Given the description of an element on the screen output the (x, y) to click on. 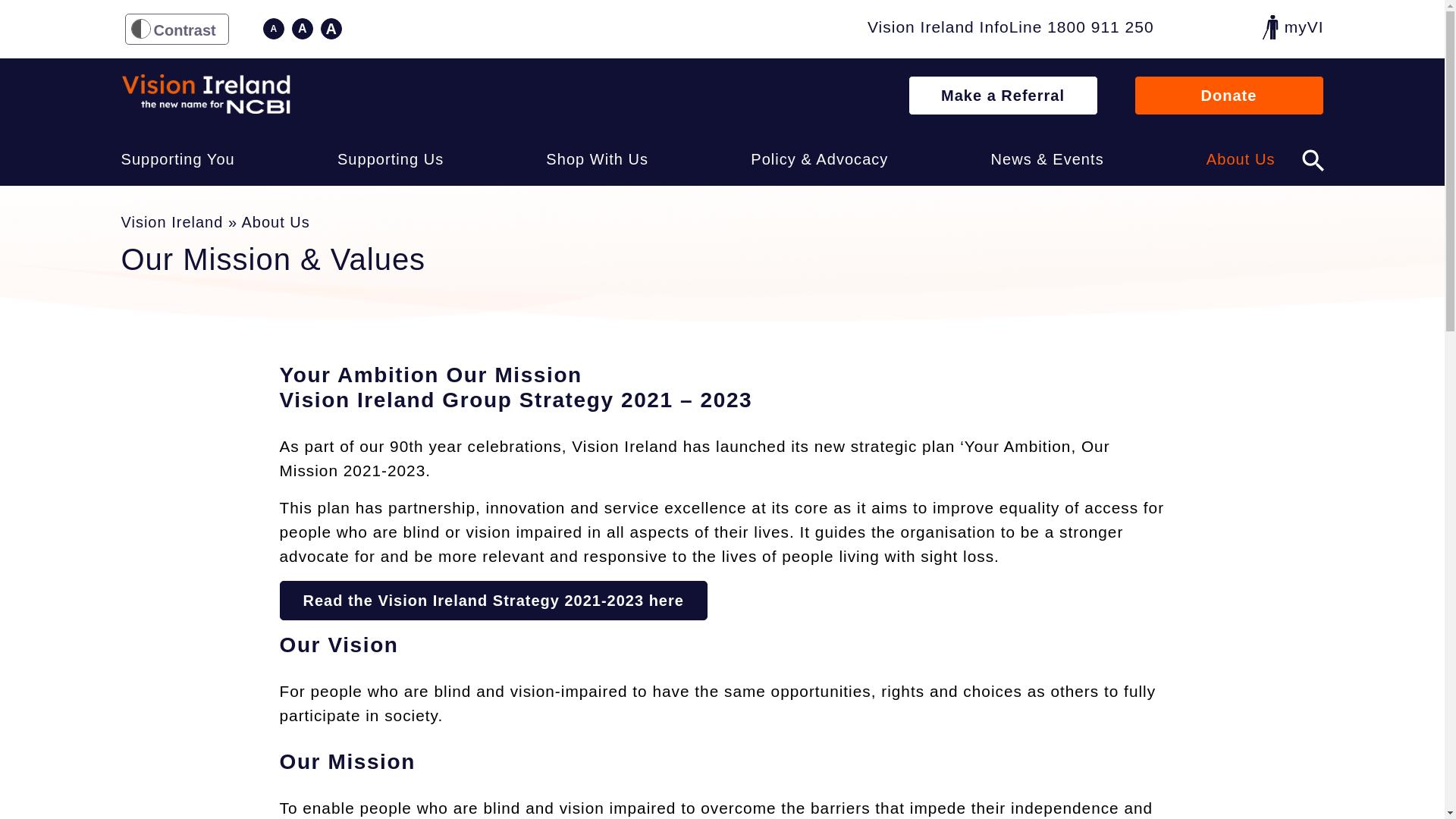
Go to Vision Ireland. (172, 221)
Vision Ireland InfoLine 1800 911 250 (1010, 29)
Your shopping cart is empty (1230, 28)
A (302, 28)
Contrast (175, 29)
Go to About Us. (274, 221)
Make a Referral (1002, 95)
A (331, 28)
Vision Ireland (206, 94)
Donate (1228, 95)
Search (1311, 157)
Supporting You (177, 159)
A (273, 28)
myVI (1291, 27)
